Given the description of an element on the screen output the (x, y) to click on. 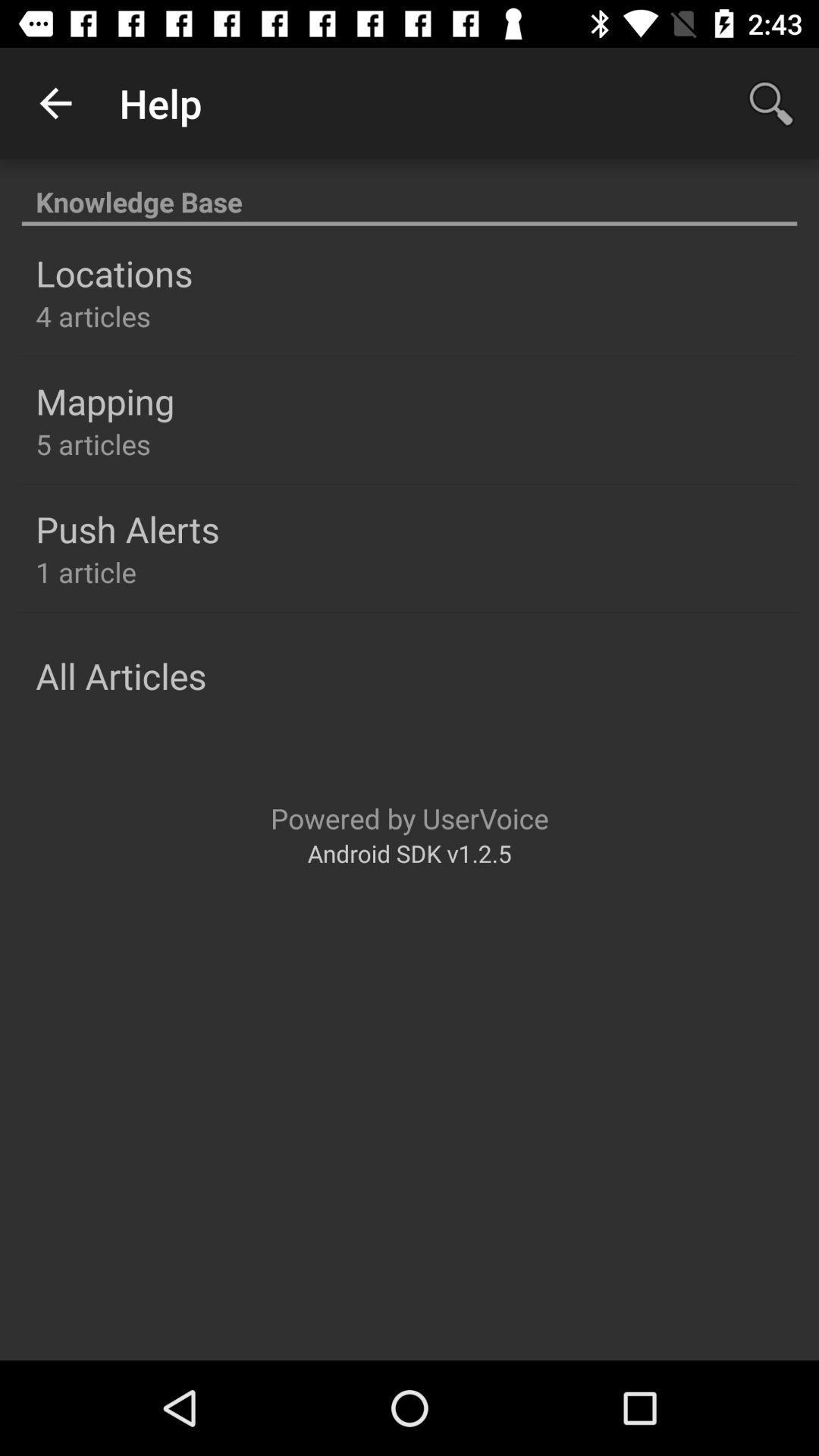
press item above knowledge base item (55, 103)
